Given the description of an element on the screen output the (x, y) to click on. 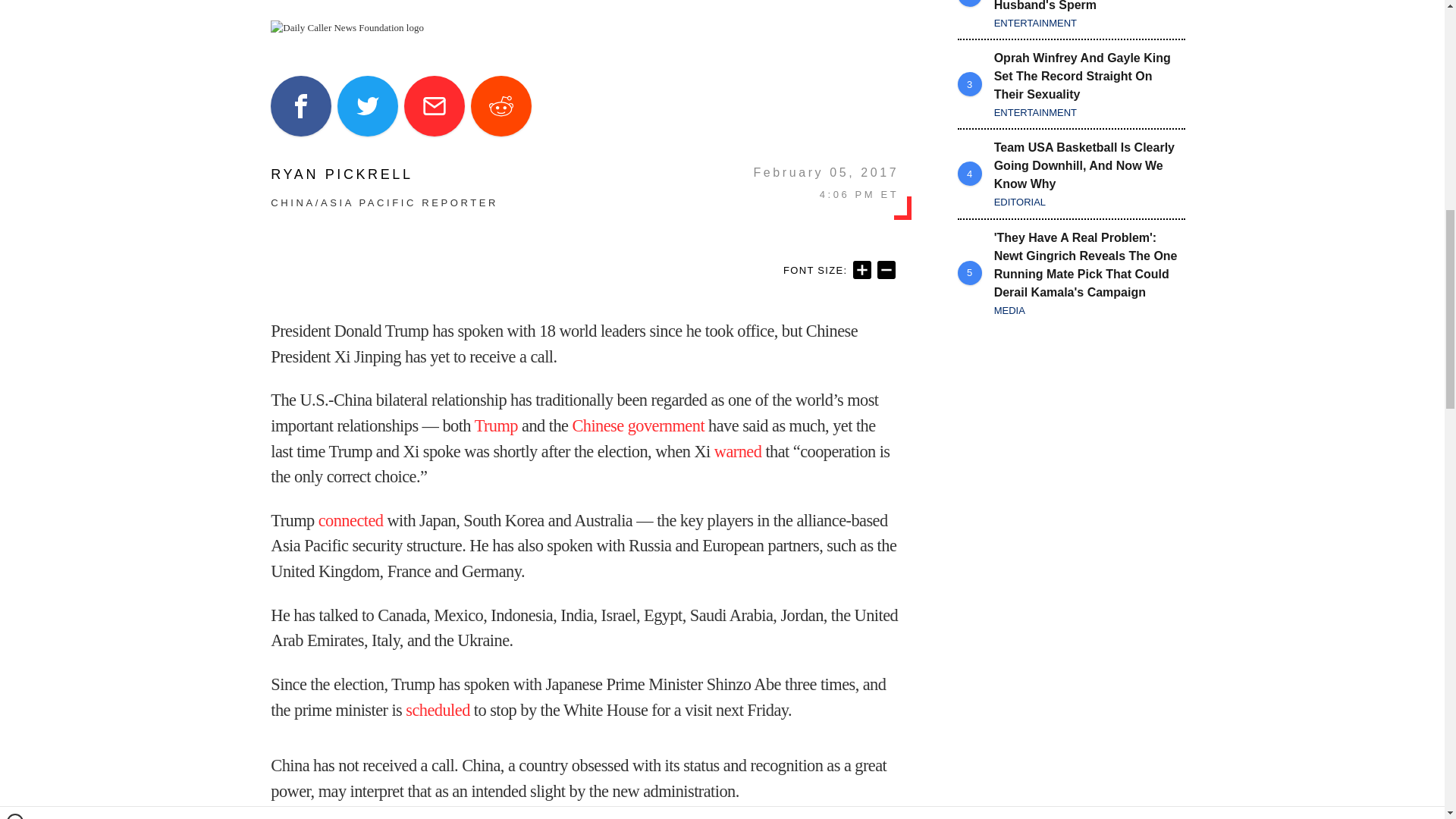
Close window (14, 6)
View More Articles By Ryan Pickrell (383, 174)
Trump (496, 425)
Chinese government (638, 425)
RYAN PICKRELL (383, 174)
